Given the description of an element on the screen output the (x, y) to click on. 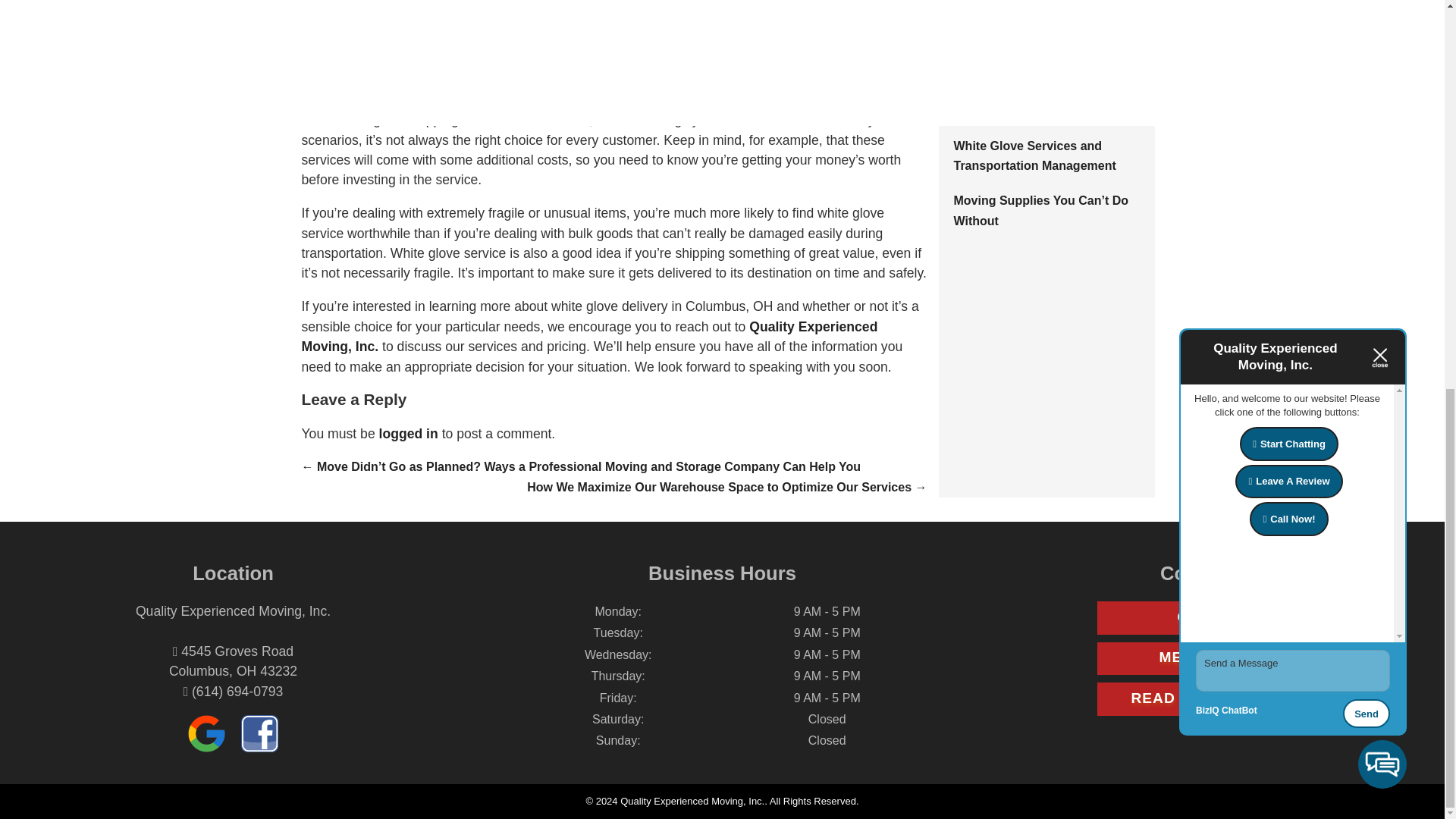
Key Qualities of an Effective Warehouse Management System (1034, 35)
Quality Experienced Moving, Inc. (589, 336)
logged in (408, 433)
White Glove Services and Transportation Management (1034, 155)
Setting Realistic Expectations for White Glove Shipping (1039, 100)
